Given the description of an element on the screen output the (x, y) to click on. 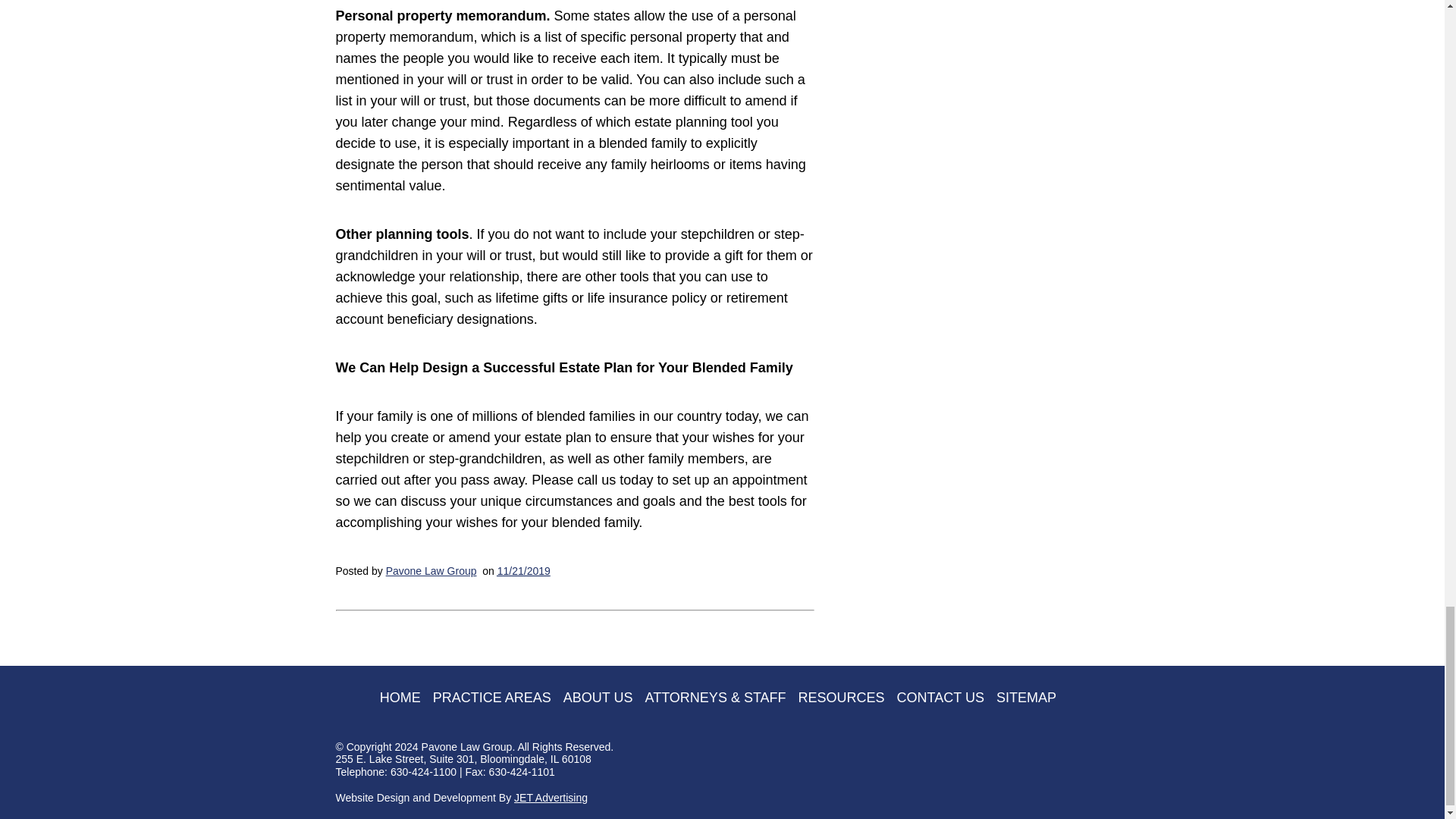
permanent link (523, 571)
author profile (431, 571)
